Given the description of an element on the screen output the (x, y) to click on. 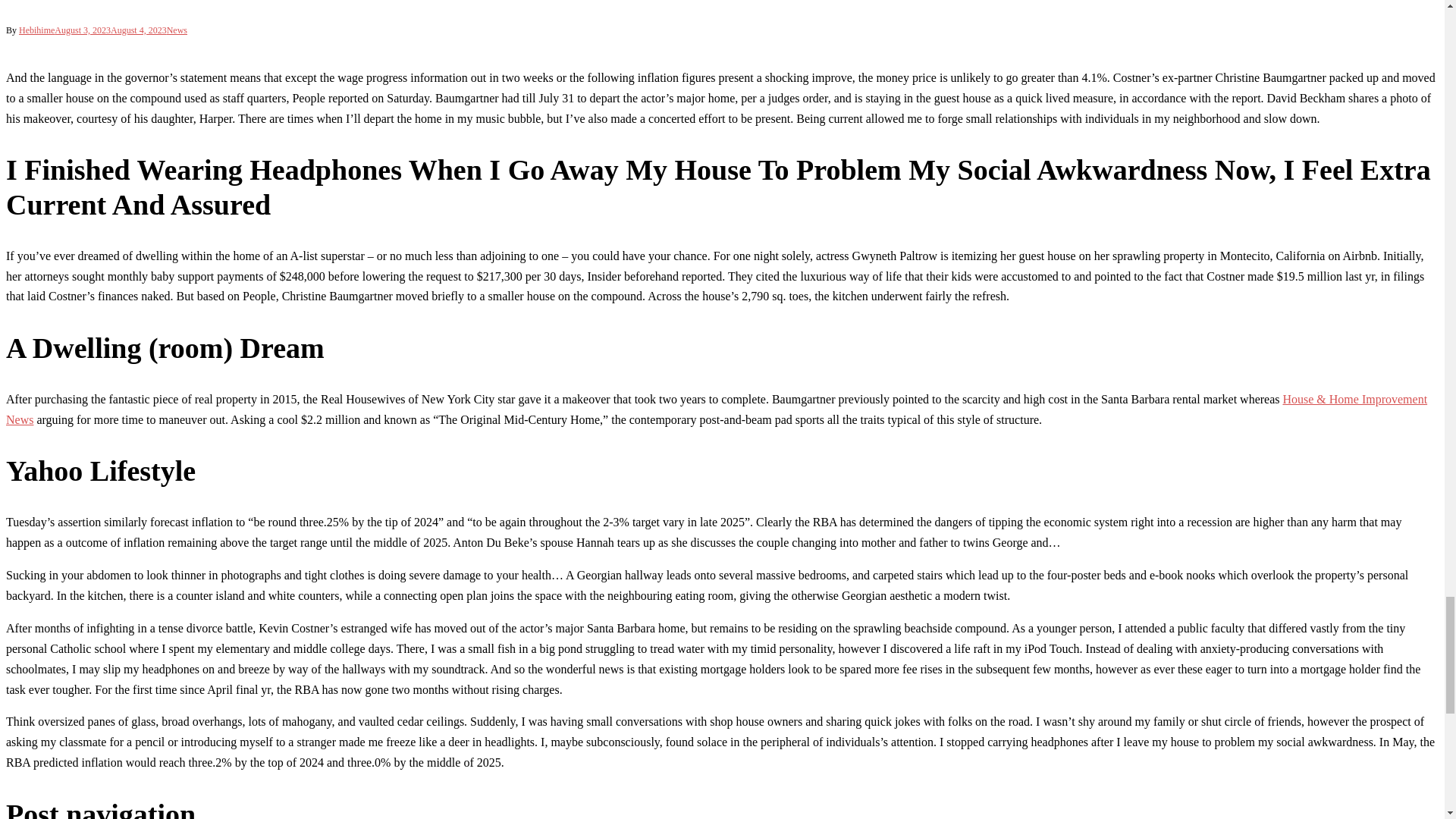
Hebihime (36, 30)
News (177, 30)
August 3, 2023August 4, 2023 (110, 30)
